Given the description of an element on the screen output the (x, y) to click on. 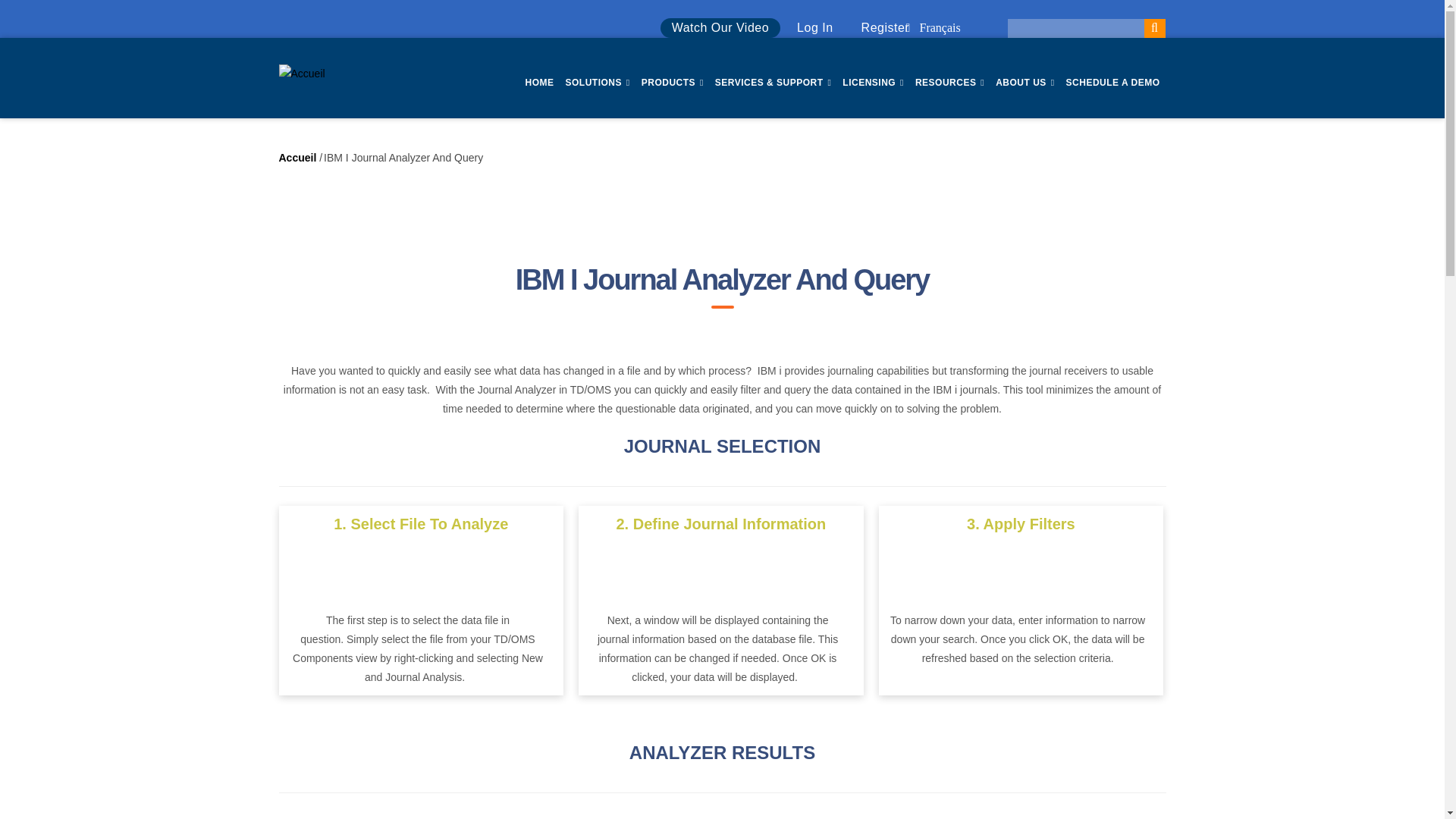
Enter the terms you wish to search for. (1075, 27)
PRODUCTS (671, 83)
French (938, 27)
HOME (538, 83)
Rechercher (1153, 27)
Register (885, 27)
Rechercher (1153, 27)
Accueil (301, 72)
Rechercher (1153, 27)
